Given the description of an element on the screen output the (x, y) to click on. 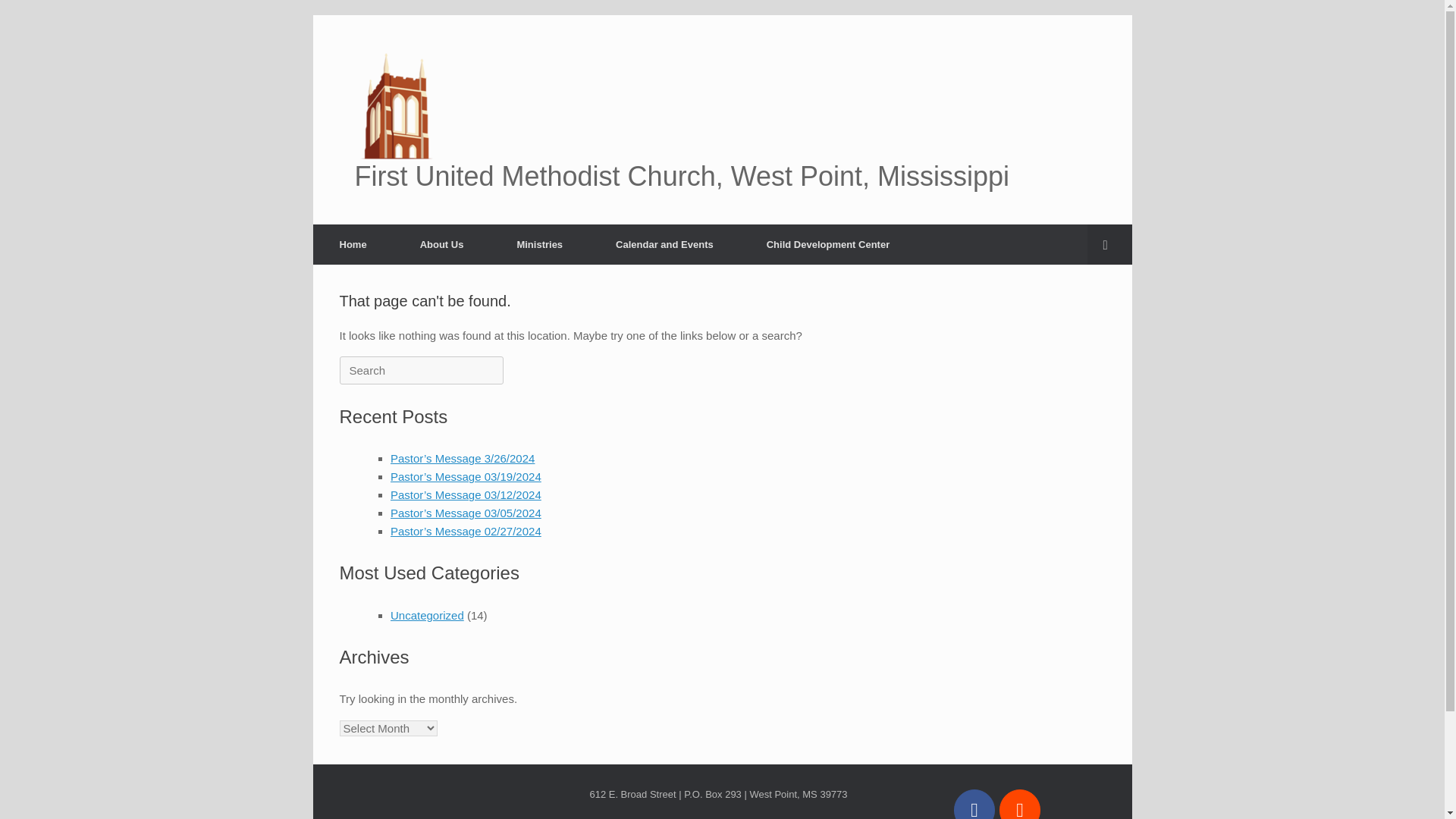
First United Methodist Church, West Point, Mississippi (722, 119)
First United Methodist Church, West Point, Mississippi (722, 119)
About Us (441, 244)
Uncategorized (427, 615)
Calendar and Events (664, 244)
Home (353, 244)
Ministries (539, 244)
